Given the description of an element on the screen output the (x, y) to click on. 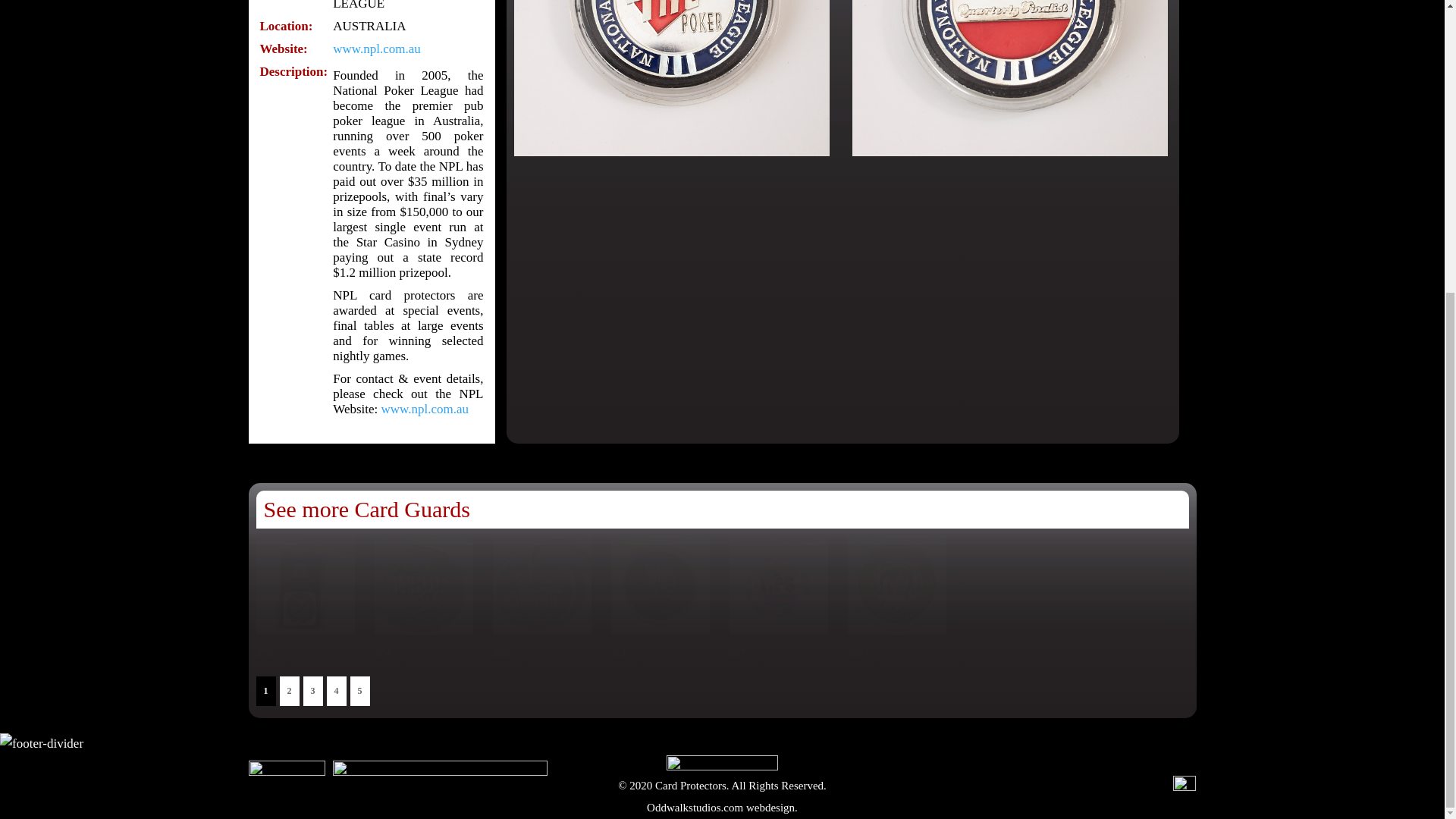
www.npl.com.au (424, 409)
Click image to view (323, 664)
Click image to view (677, 664)
Click image to view (441, 664)
www.npl.com.au (376, 48)
Click image to view (559, 664)
